Given the description of an element on the screen output the (x, y) to click on. 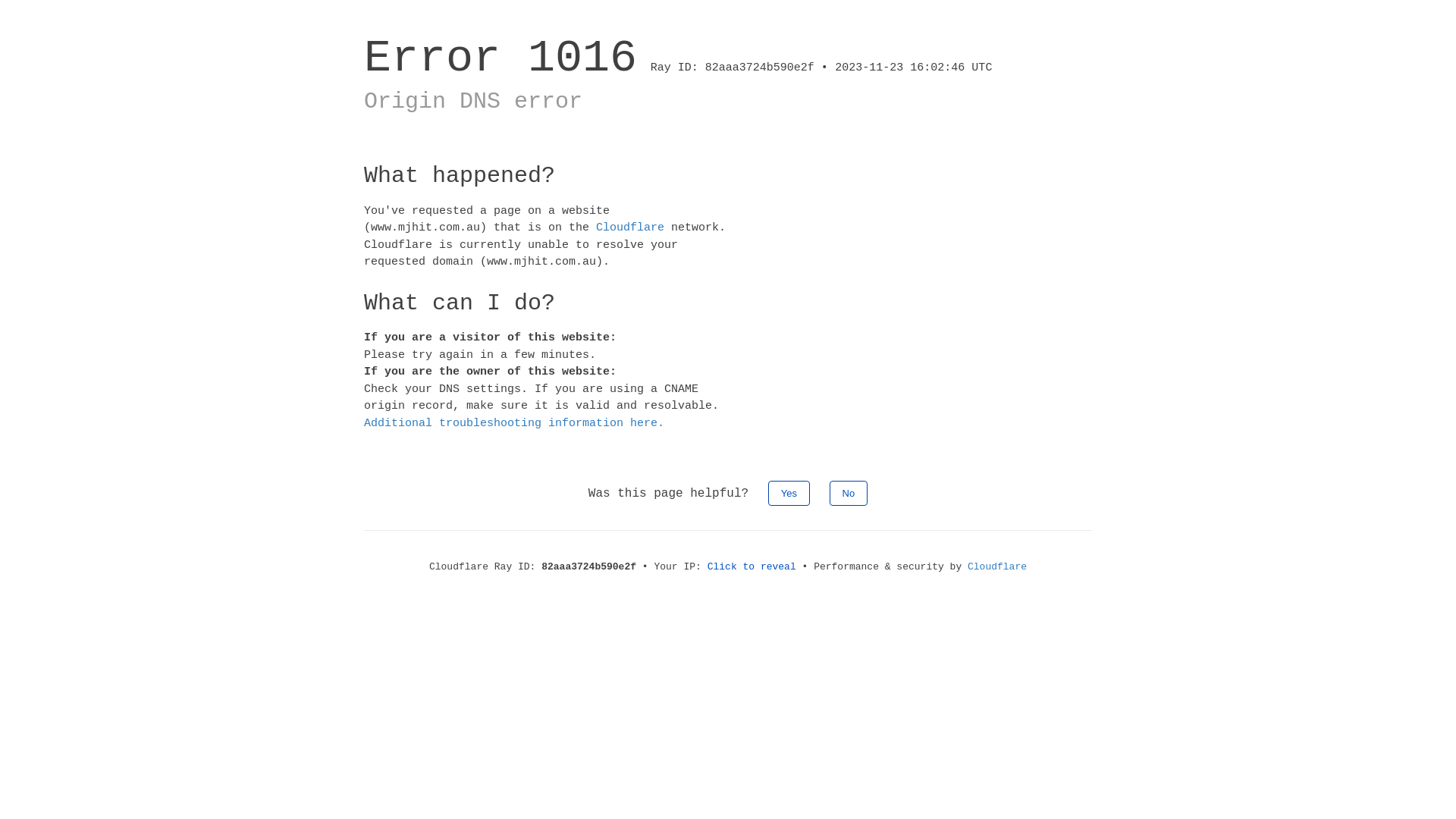
Click to reveal Element type: text (751, 566)
Yes Element type: text (788, 492)
Cloudflare Element type: text (630, 227)
No Element type: text (848, 492)
Cloudflare Element type: text (996, 566)
Additional troubleshooting information here. Element type: text (514, 423)
